Given the description of an element on the screen output the (x, y) to click on. 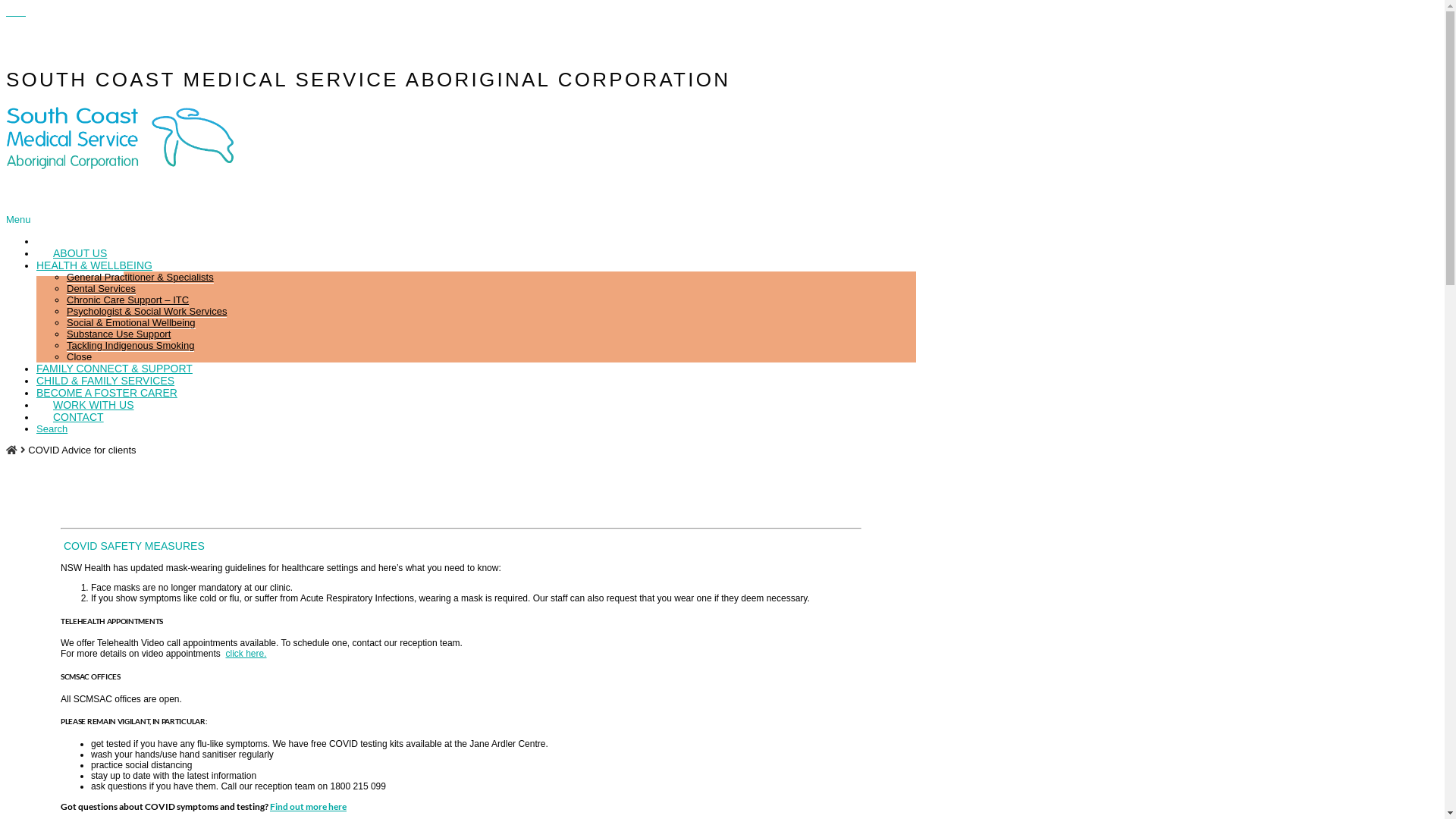
Social & Emotional Wellbeing Element type: text (130, 322)
FAMILY CONNECT & SUPPORT Element type: text (114, 368)
WORK WITH US Element type: text (93, 404)
General Practitioner & Specialists Element type: text (139, 277)
CONTACT Element type: text (78, 416)
Tackling Indigenous Smoking Element type: text (130, 345)
Substance Use Support Element type: text (118, 334)
ABOUT US Element type: text (79, 253)
BECOME A FOSTER CARER Element type: text (106, 392)
Facebook Element type: hover (10, 11)
Health & Wellbeing Services Element type: hover (119, 157)
HEALTH & WELLBEING Element type: text (94, 265)
Search Element type: text (51, 428)
click here. Element type: text (245, 653)
Menu Element type: text (18, 219)
Find out more here Element type: text (307, 806)
HOME Element type: text (52, 241)
Dental Services Element type: text (100, 288)
Instagram Element type: hover (20, 11)
Psychologist & Social Work Services Element type: text (146, 311)
CHILD & FAMILY SERVICES Element type: text (105, 380)
